Given the description of an element on the screen output the (x, y) to click on. 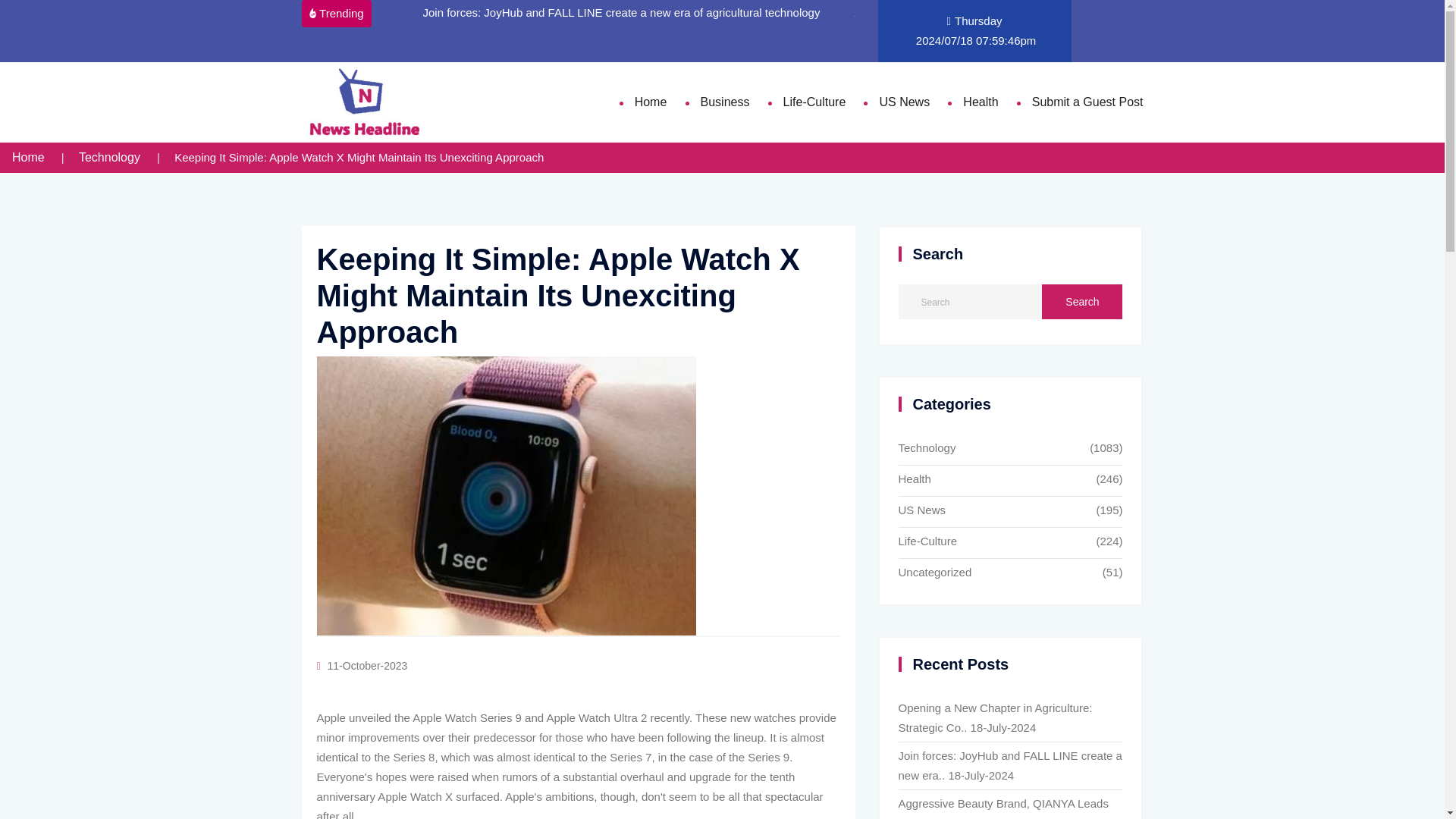
Home (28, 156)
Submit a Guest Post (1087, 102)
Search (1082, 301)
Search (1082, 301)
US News (993, 511)
Opening a New Chapter in Agriculture: Strategic Co.. (995, 717)
Search (1082, 301)
Life-Culture (993, 542)
Health (993, 480)
Technology (108, 156)
Aggressive Beauty Brand, QIANYA Leads Oriental Aes.. (1003, 807)
Technology (993, 449)
Uncategorized (993, 573)
Join forces: JoyHub and FALL LINE create a new era.. (1009, 765)
